Given the description of an element on the screen output the (x, y) to click on. 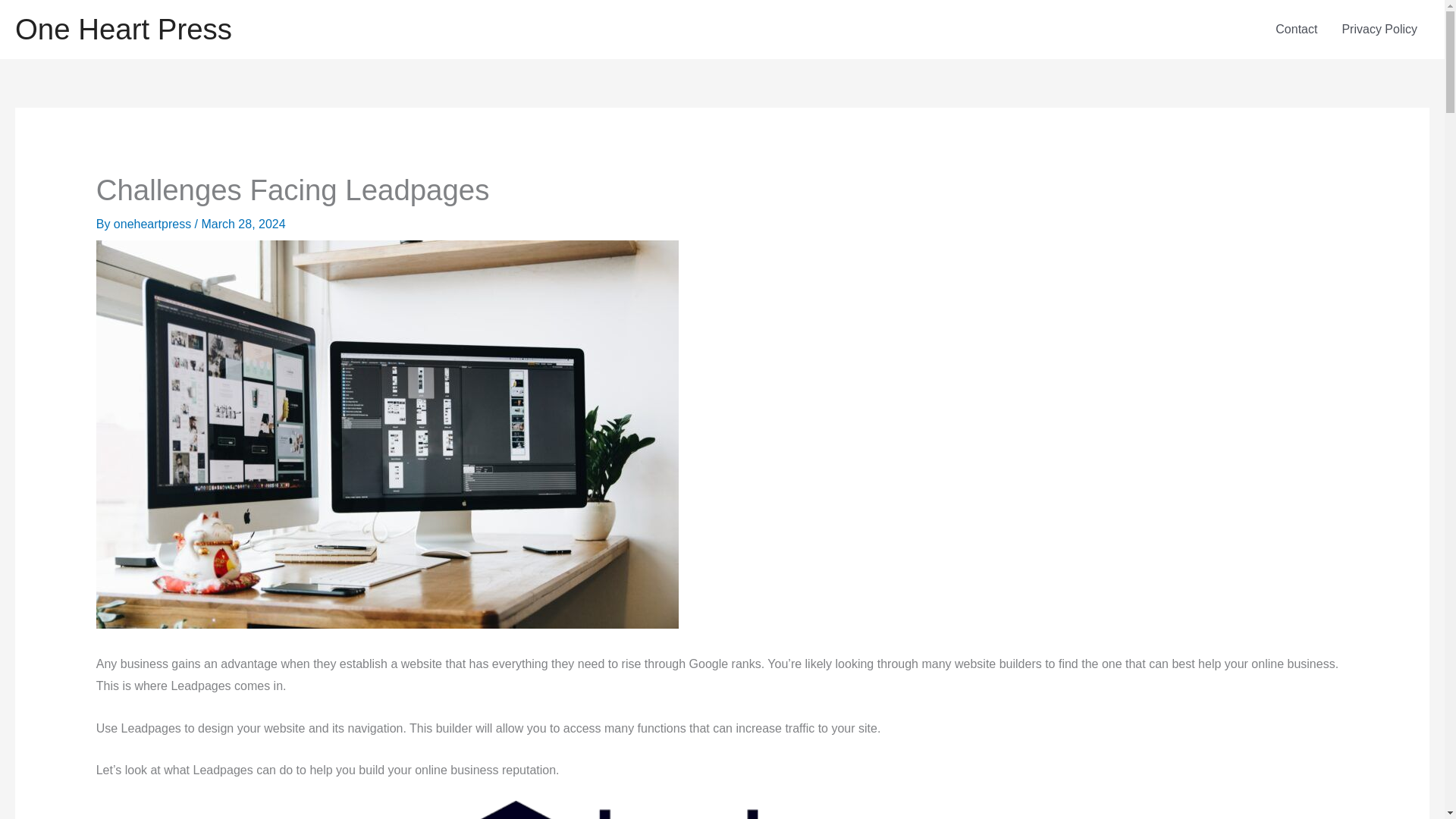
Privacy Policy (1379, 29)
View all posts by oneheartpress (154, 223)
Contact (1296, 29)
One Heart Press (122, 29)
oneheartpress (154, 223)
